Given the description of an element on the screen output the (x, y) to click on. 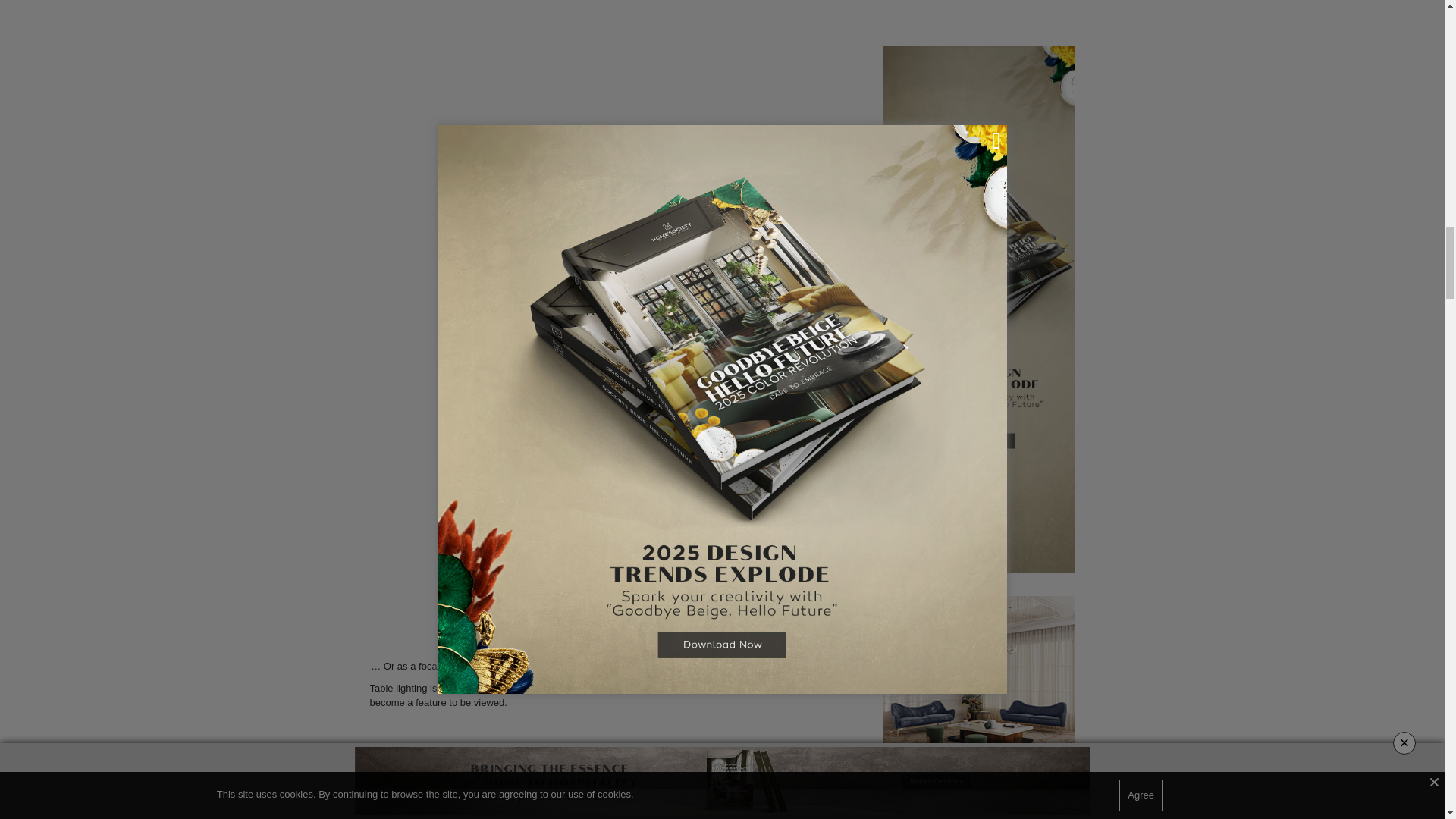
Emily Suspension by Delightfull (594, 665)
Muuto wood table lamp (617, 768)
